Given the description of an element on the screen output the (x, y) to click on. 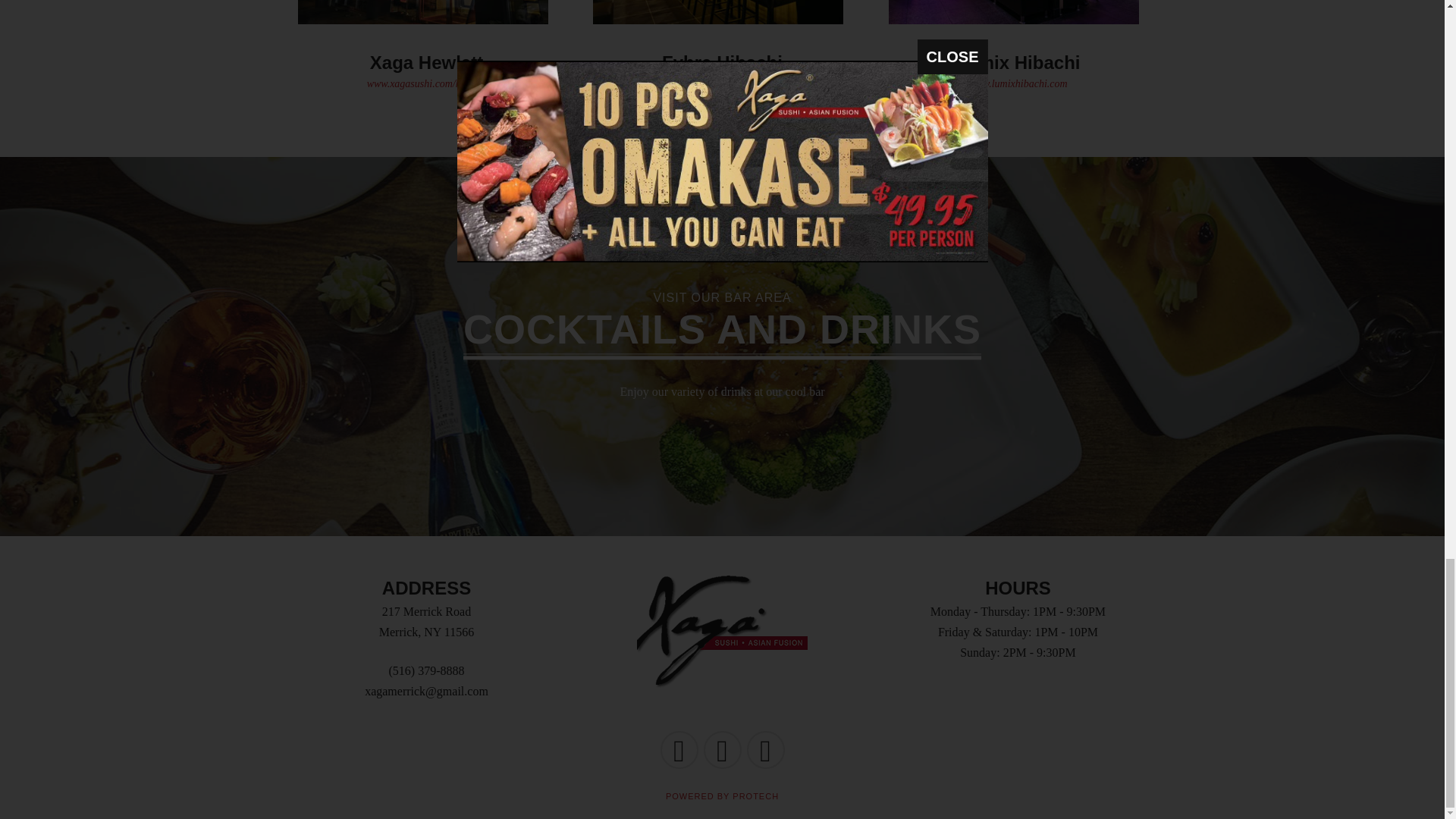
POWERED BY PROTECH (722, 71)
